Given the description of an element on the screen output the (x, y) to click on. 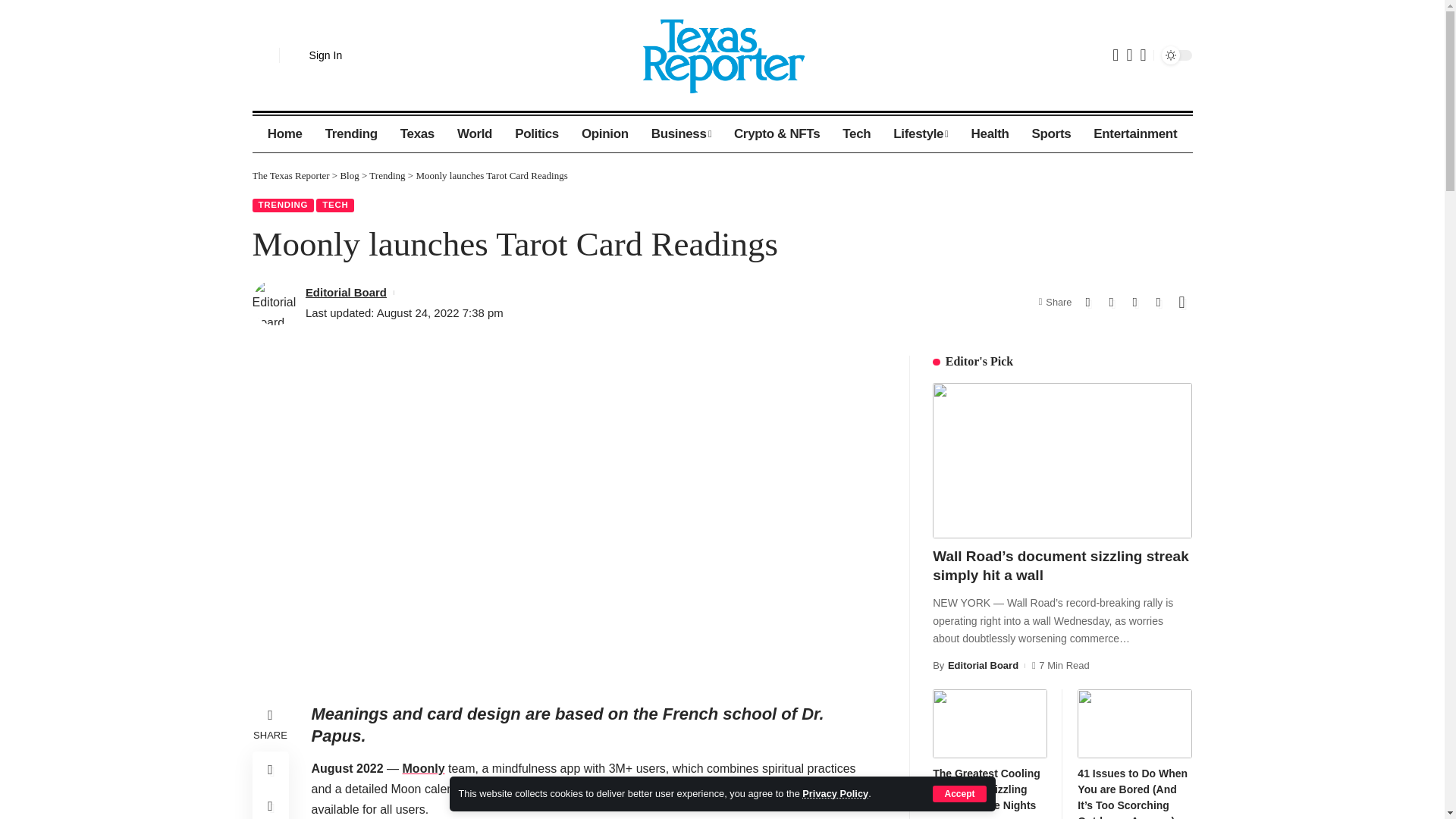
World (474, 134)
Privacy Policy (834, 793)
Business (681, 134)
Home (285, 134)
Opinion (605, 134)
Go to The Texas Reporter. (290, 174)
Politics (536, 134)
The Greatest Cooling Sheets for Sizzling Summer time Nights (989, 723)
Accept (959, 793)
Tech (856, 134)
Health (989, 134)
Sign In (317, 55)
Texas (416, 134)
Sports (1051, 134)
Lifestyle (920, 134)
